Given the description of an element on the screen output the (x, y) to click on. 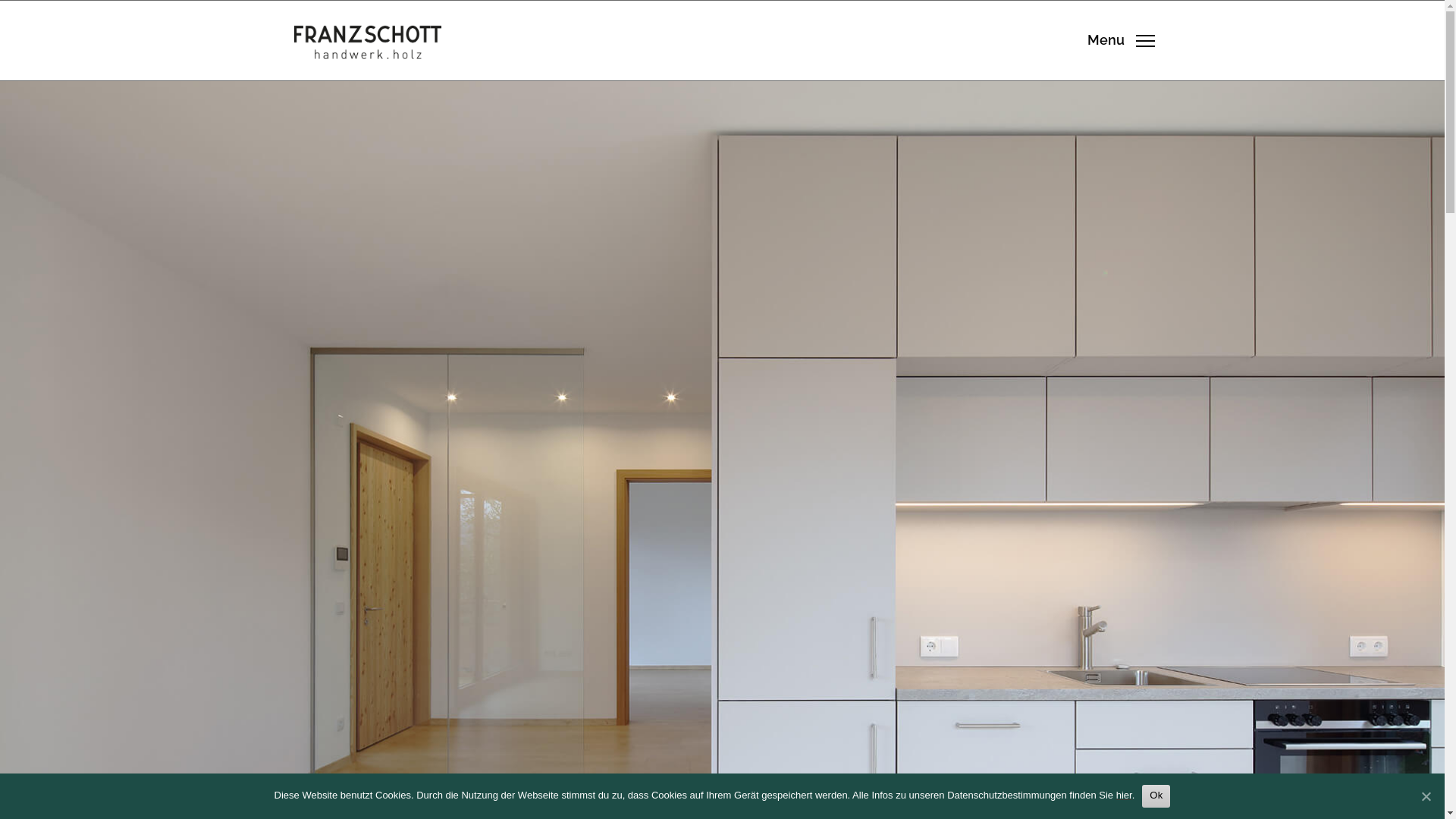
Ok Element type: text (1156, 795)
hier Element type: text (1124, 794)
